Given the description of an element on the screen output the (x, y) to click on. 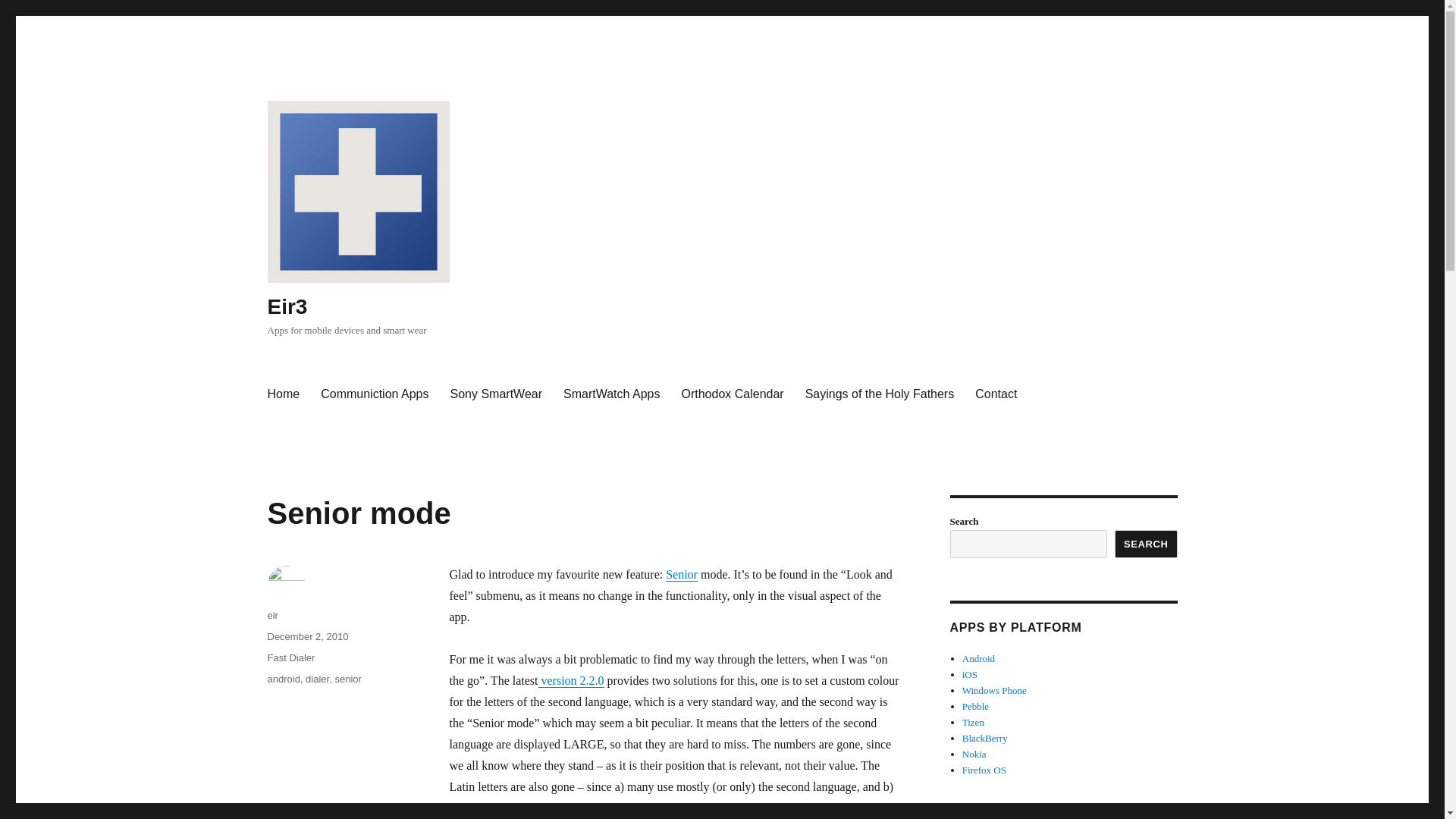
Windows Phone (994, 690)
Orthodox Calendar (731, 394)
dialer (317, 678)
SEARCH (1146, 543)
eir (272, 614)
Firefox OS (984, 769)
version 2.2.0 (571, 680)
Sony SmartWear (496, 394)
BlackBerry (984, 737)
Contact (995, 394)
